Given the description of an element on the screen output the (x, y) to click on. 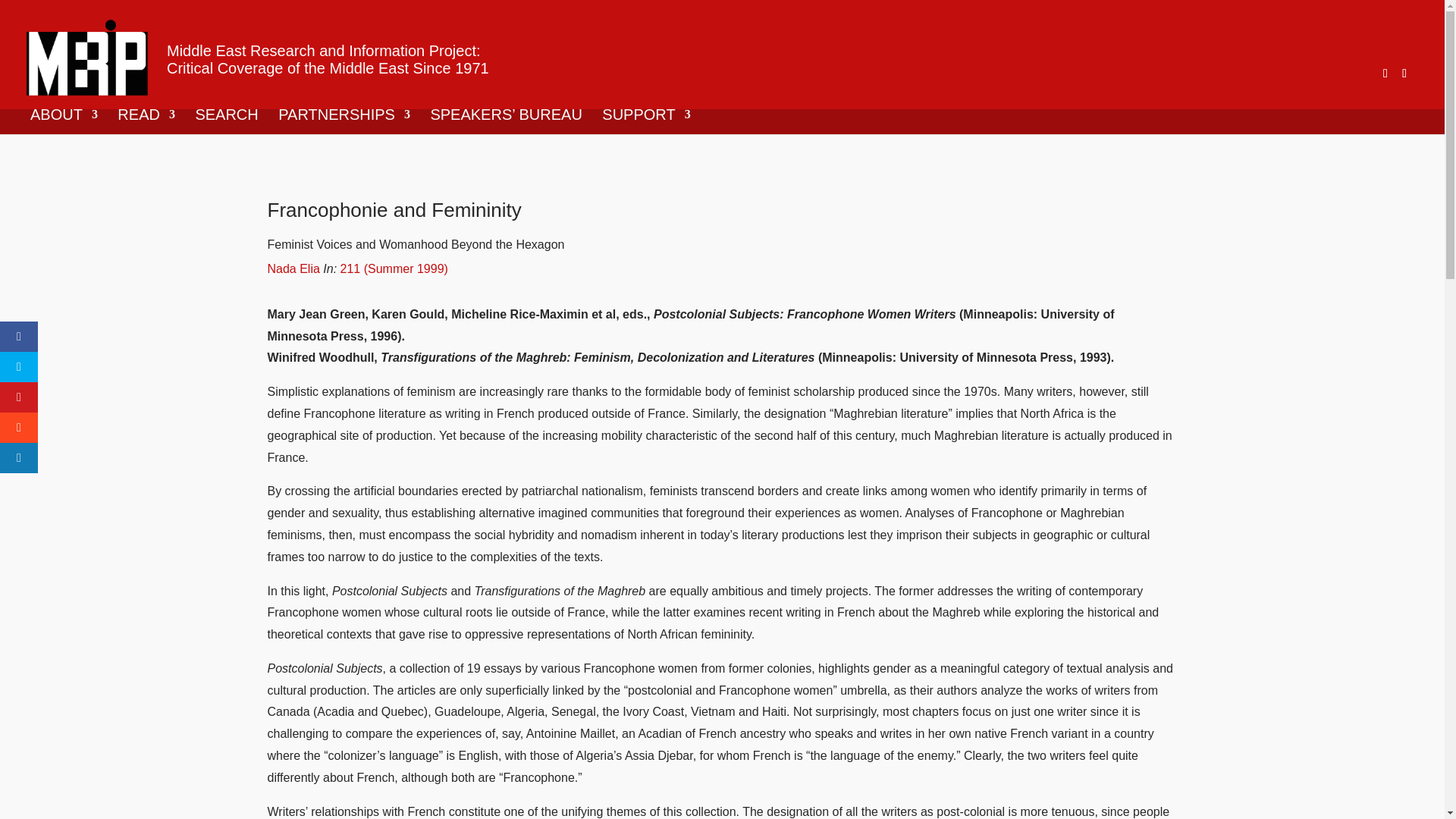
SUPPORT (646, 121)
PARTNERSHIPS (344, 121)
ABOUT (63, 121)
READ (145, 121)
SEARCH (226, 121)
